Given the description of an element on the screen output the (x, y) to click on. 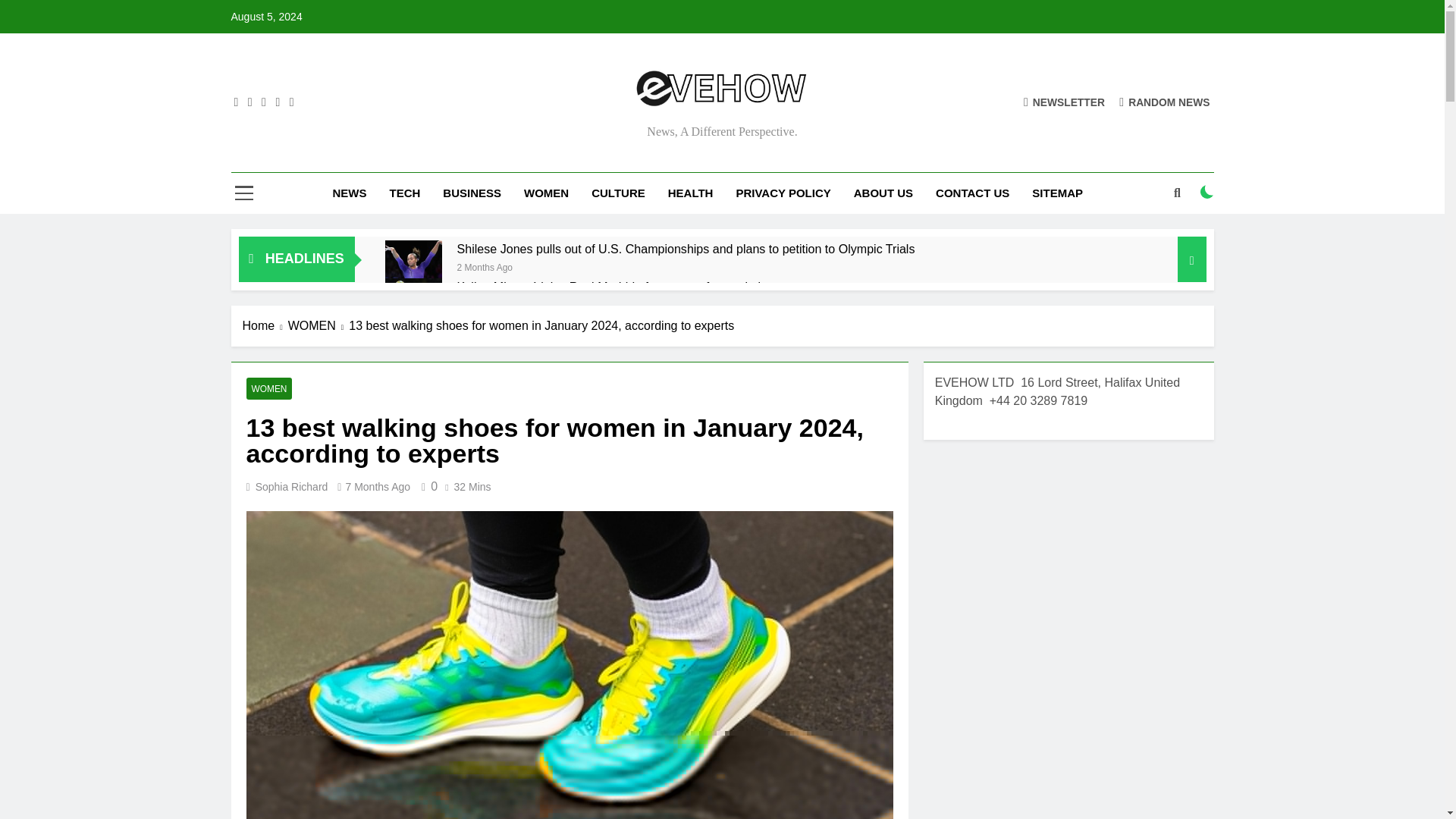
NEWS (348, 192)
ABOUT US (883, 192)
NEWSLETTER (1064, 101)
2 Months Ago (484, 266)
HEALTH (690, 192)
PRIVACY POLICY (782, 192)
on (1206, 192)
EVEHOW (559, 132)
TECH (403, 192)
WOMEN (545, 192)
CULTURE (617, 192)
BUSINESS (471, 192)
SITEMAP (1057, 192)
CONTACT US (972, 192)
